Given the description of an element on the screen output the (x, y) to click on. 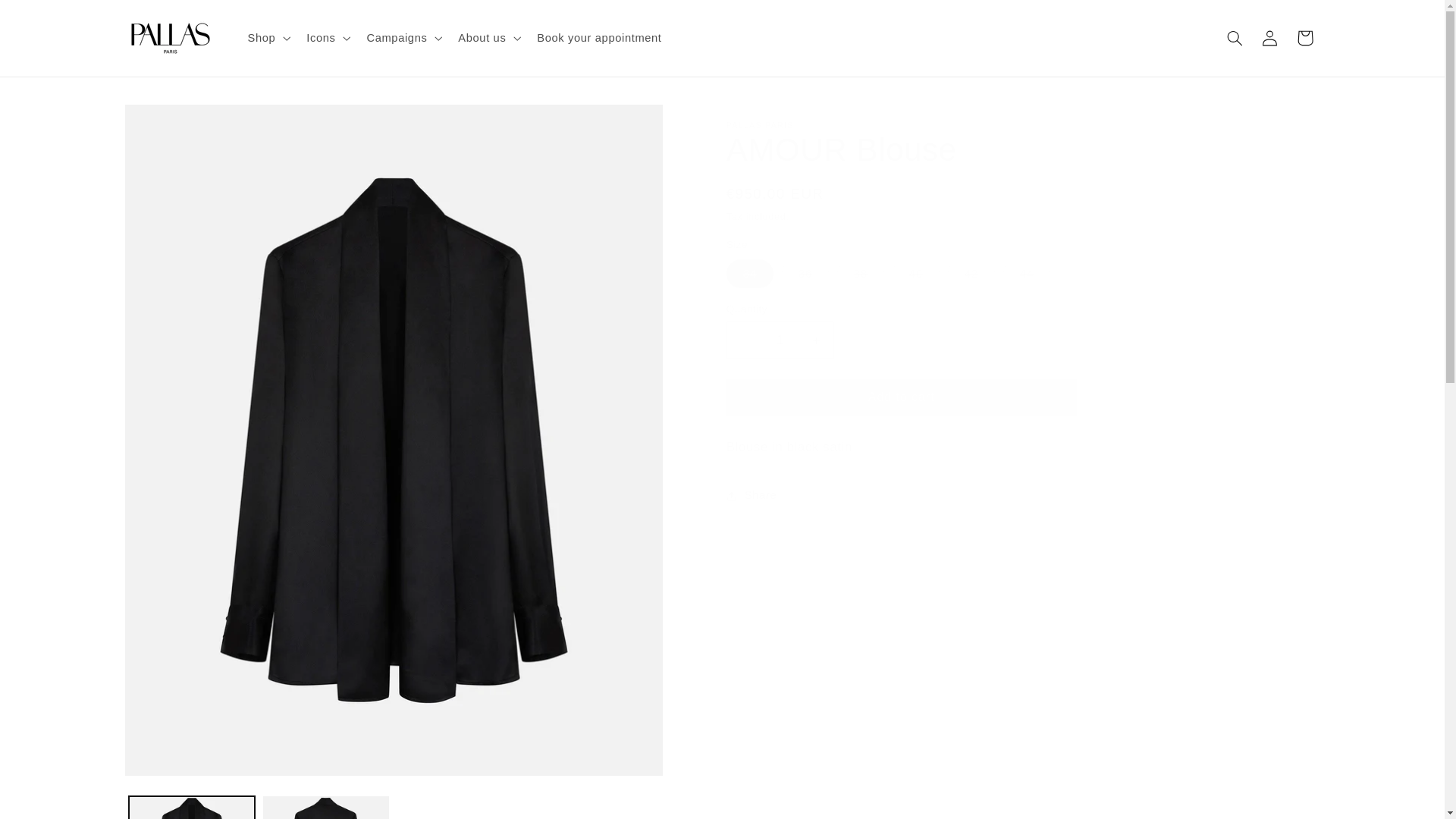
1 (780, 339)
Skip to content (48, 18)
Book your appointment (599, 37)
